Given the description of an element on the screen output the (x, y) to click on. 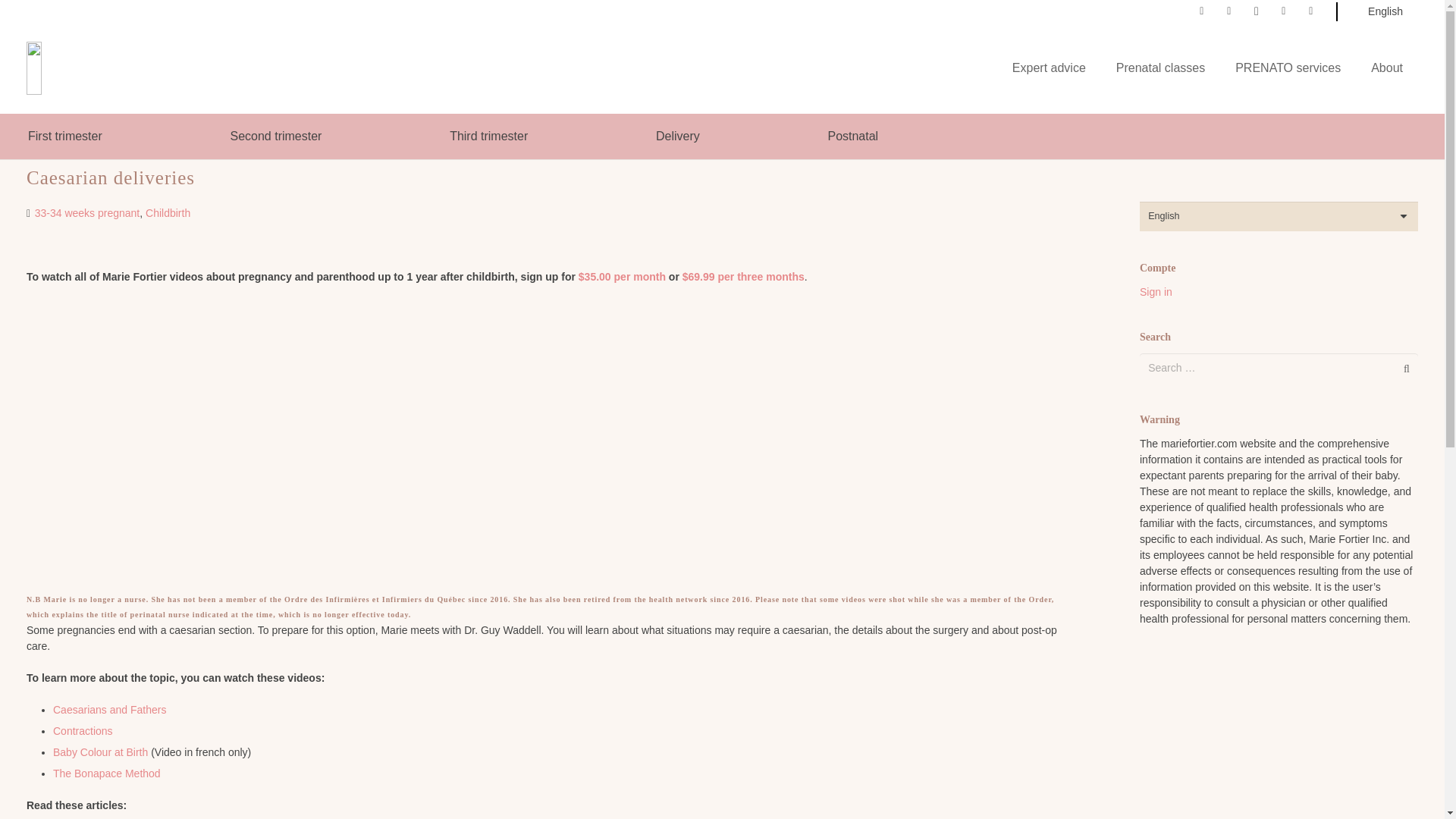
Prenatal classes (1160, 67)
LinkedIn (1229, 11)
English (1385, 11)
Pinterest (1283, 11)
YouTube (1311, 11)
PRENATO services (1287, 67)
Instagram (1256, 11)
English (1385, 11)
First trimester (64, 135)
Facebook (1201, 11)
